Given the description of an element on the screen output the (x, y) to click on. 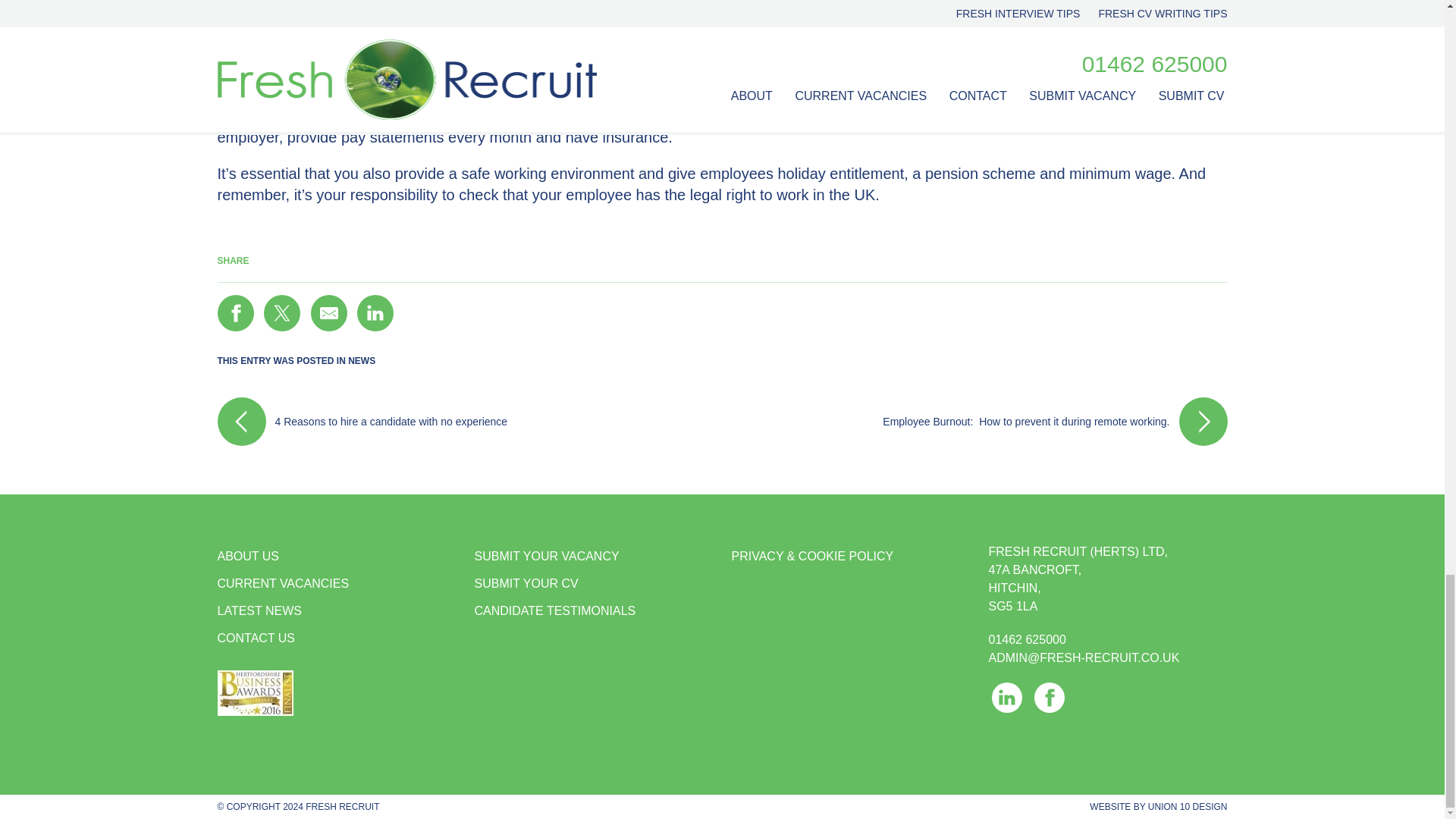
CANDIDATE TESTIMONIALS (593, 610)
The LinkedIn page for Fresh Recruit (1006, 697)
NEWS (361, 360)
SUBMIT YOUR CV (593, 583)
The Facebook page for Fresh Recruit (1048, 697)
Employee Burnout:  How to prevent it during remote working. (974, 421)
ABOUT US (335, 556)
SUBMIT YOUR VACANCY (593, 556)
LATEST NEWS (335, 610)
CURRENT VACANCIES (335, 583)
